Given the description of an element on the screen output the (x, y) to click on. 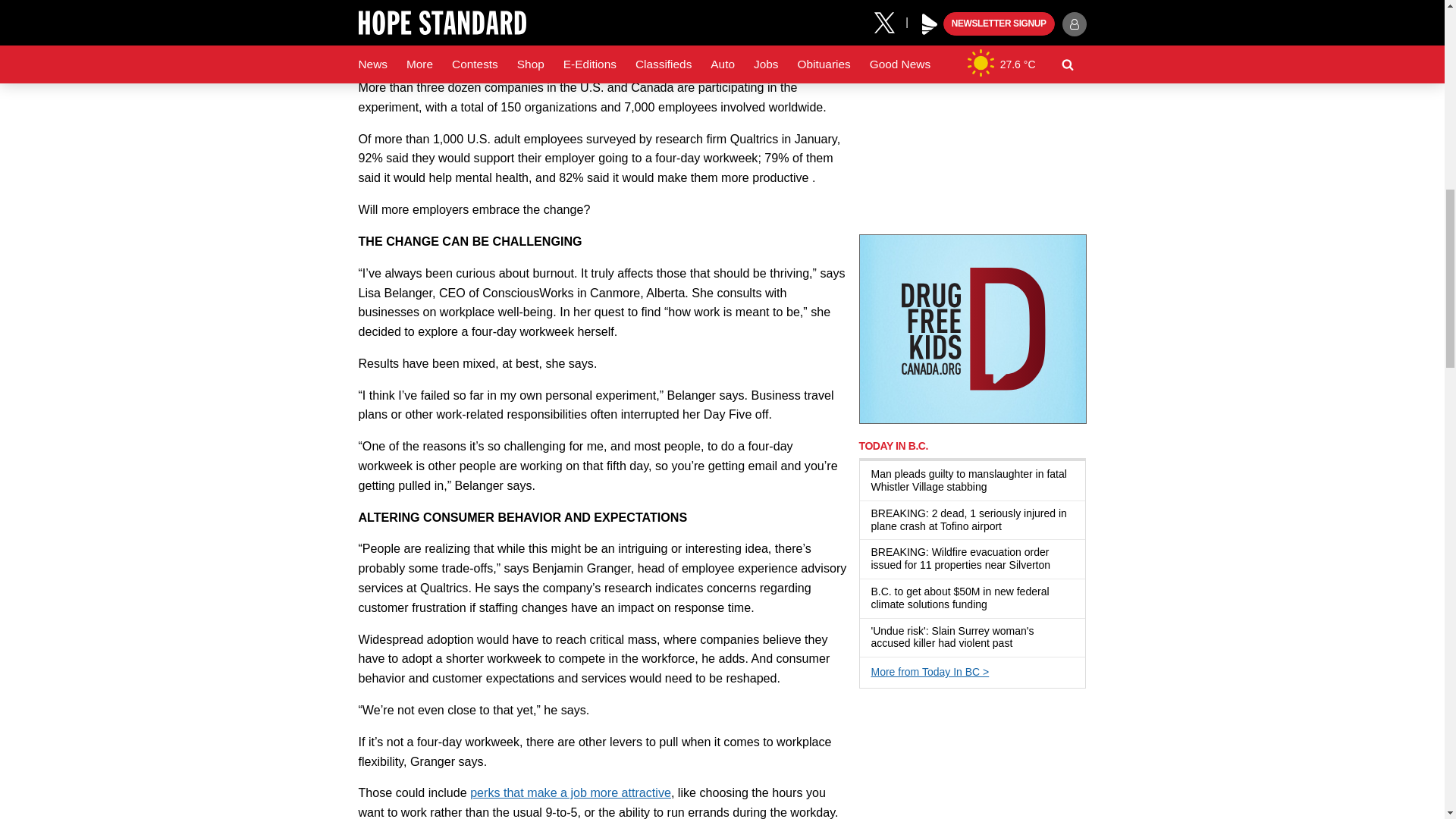
3rd party ad content (972, 329)
3rd party ad content (972, 124)
